Given the description of an element on the screen output the (x, y) to click on. 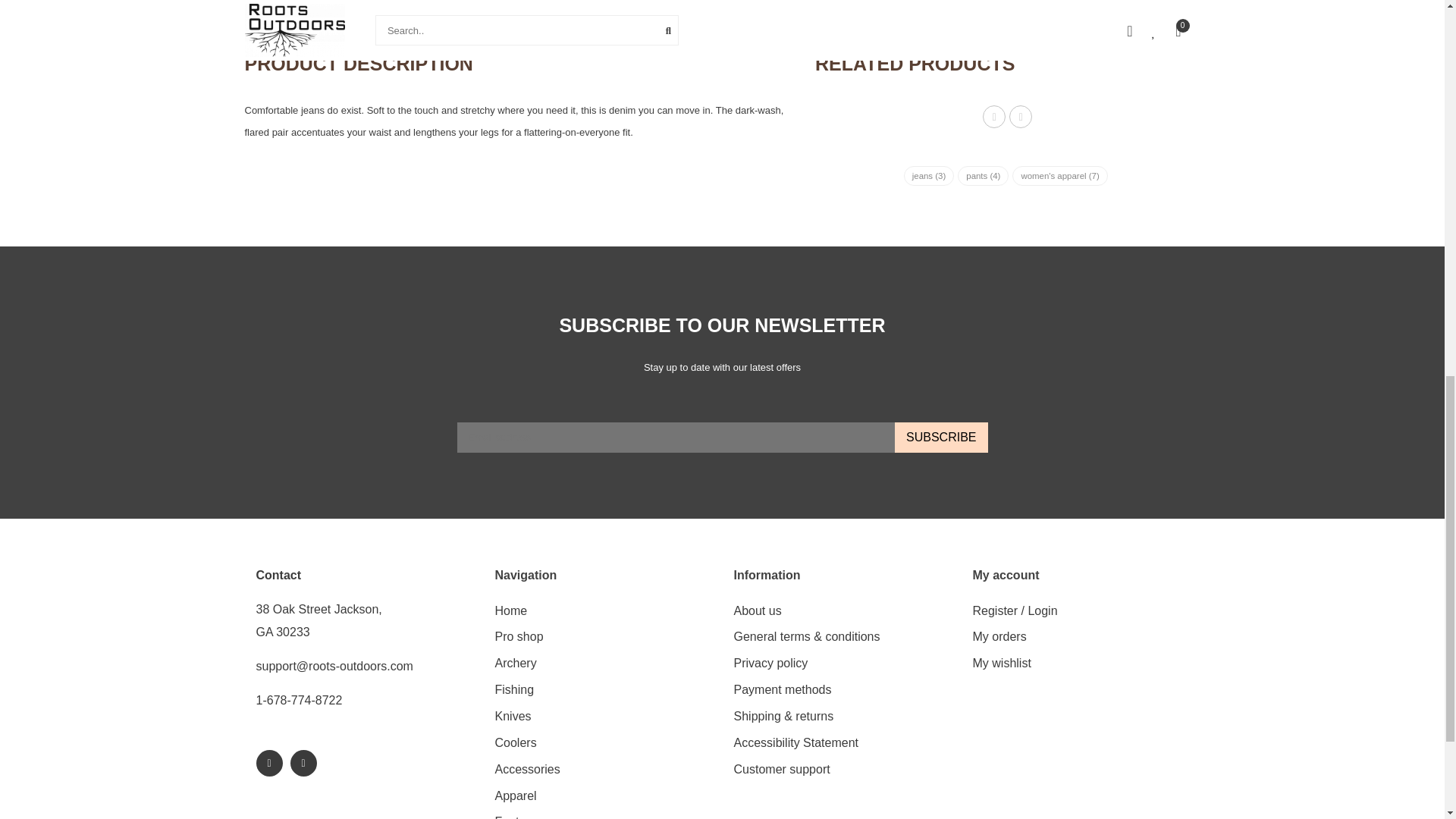
KNIVES (513, 716)
HOME (511, 611)
jeans (929, 175)
COOLERS (515, 743)
ARCHERY (515, 663)
ACCESSORIES (527, 769)
About us (757, 611)
FISHING (514, 690)
PRO SHOP (519, 637)
pants (983, 175)
women's apparel (1058, 175)
APPAREL (515, 795)
FOOTWEAR (519, 814)
